Given the description of an element on the screen output the (x, y) to click on. 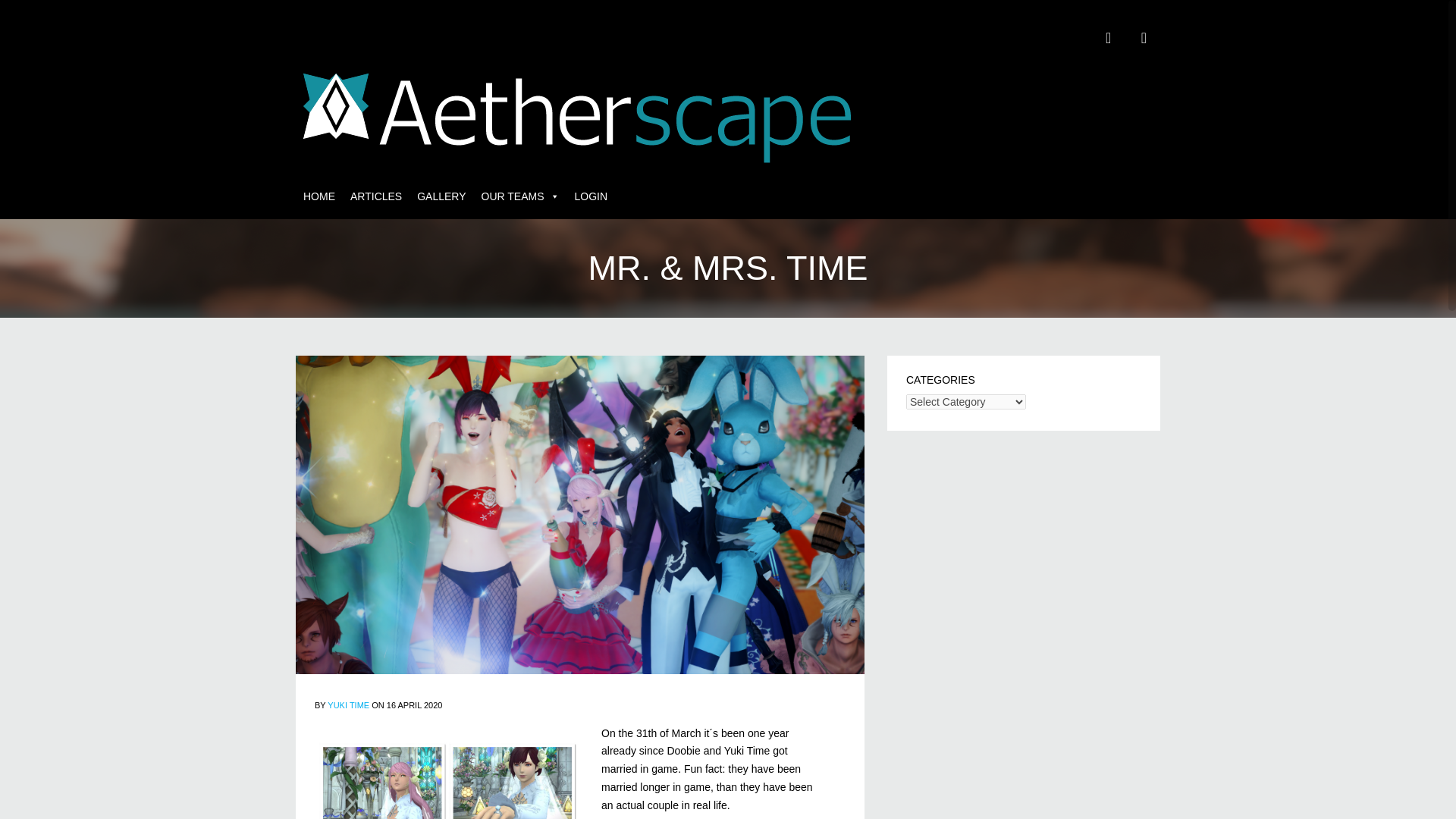
Posts by Yuki Time (348, 705)
LOGIN (591, 195)
OUR TEAMS (520, 195)
HOME (318, 195)
YUKI TIME (348, 705)
ARTICLES (375, 195)
GALLERY (441, 195)
